Given the description of an element on the screen output the (x, y) to click on. 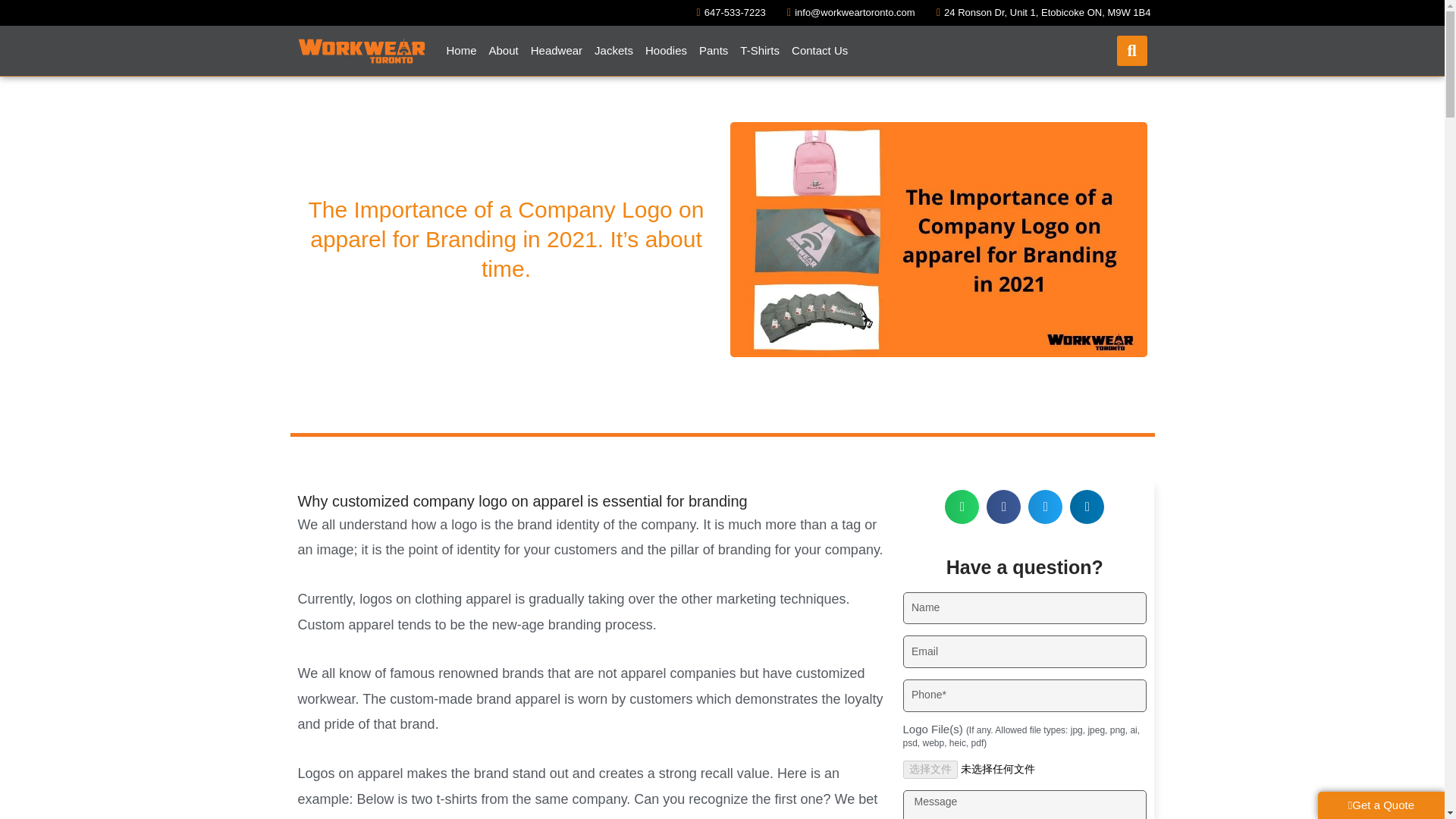
24 Ronson Dr, Unit 1, Etobicoke ON, M9W 1B4 (1039, 13)
Jackets (613, 50)
Contact Us (819, 50)
Home (460, 50)
Hoodies (666, 50)
About (503, 50)
Headwear (556, 50)
Pants (713, 50)
T-Shirts (759, 50)
647-533-7223 (726, 13)
